Given the description of an element on the screen output the (x, y) to click on. 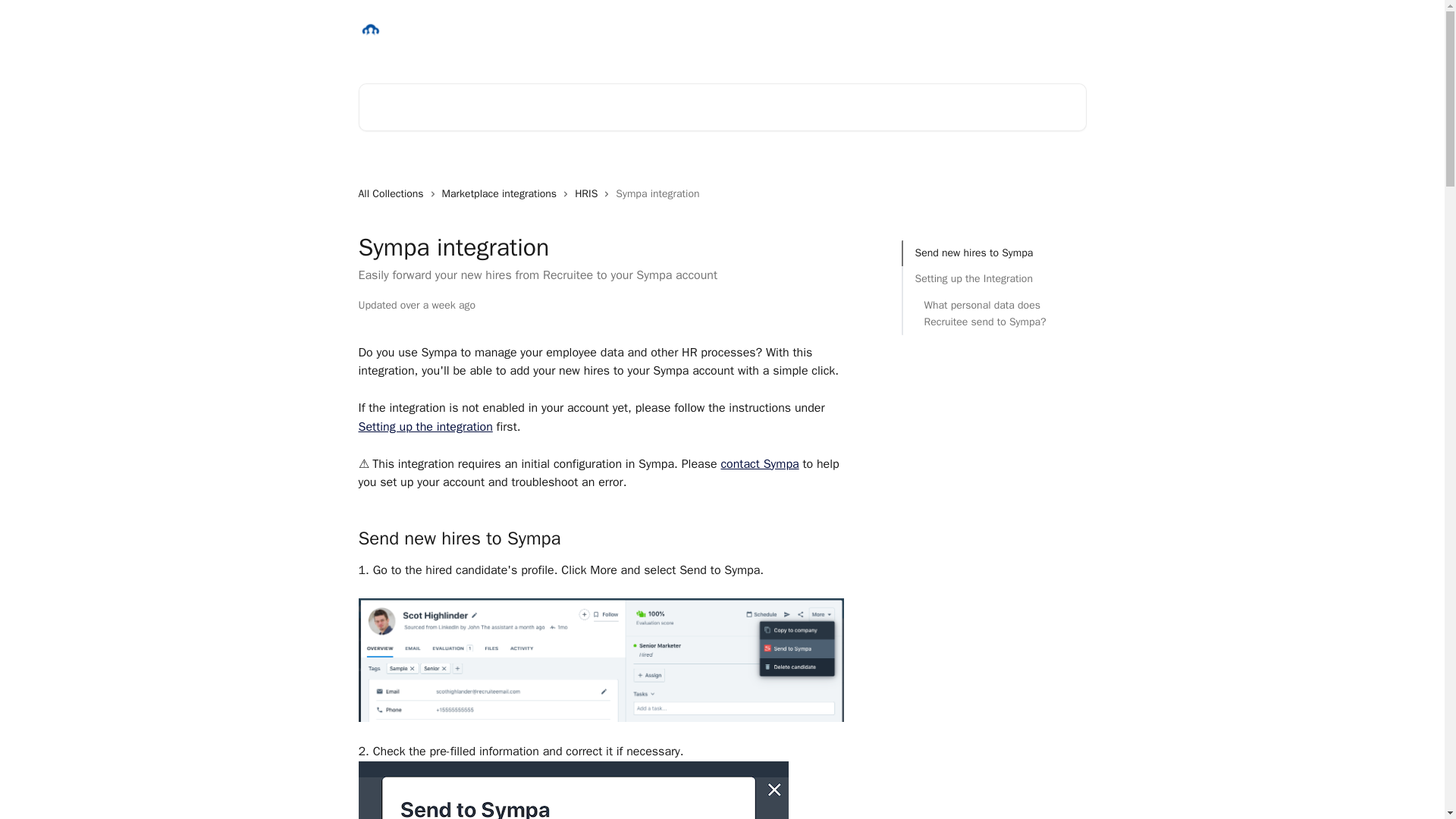
contact Sympa (758, 463)
HRIS (589, 193)
Setting up the integration (425, 426)
Send new hires to Sympa (994, 252)
What personal data does Recruitee send to Sympa? (993, 314)
All Collections (393, 193)
Setting up the Integration (994, 279)
Marketplace integrations (502, 193)
